Given the description of an element on the screen output the (x, y) to click on. 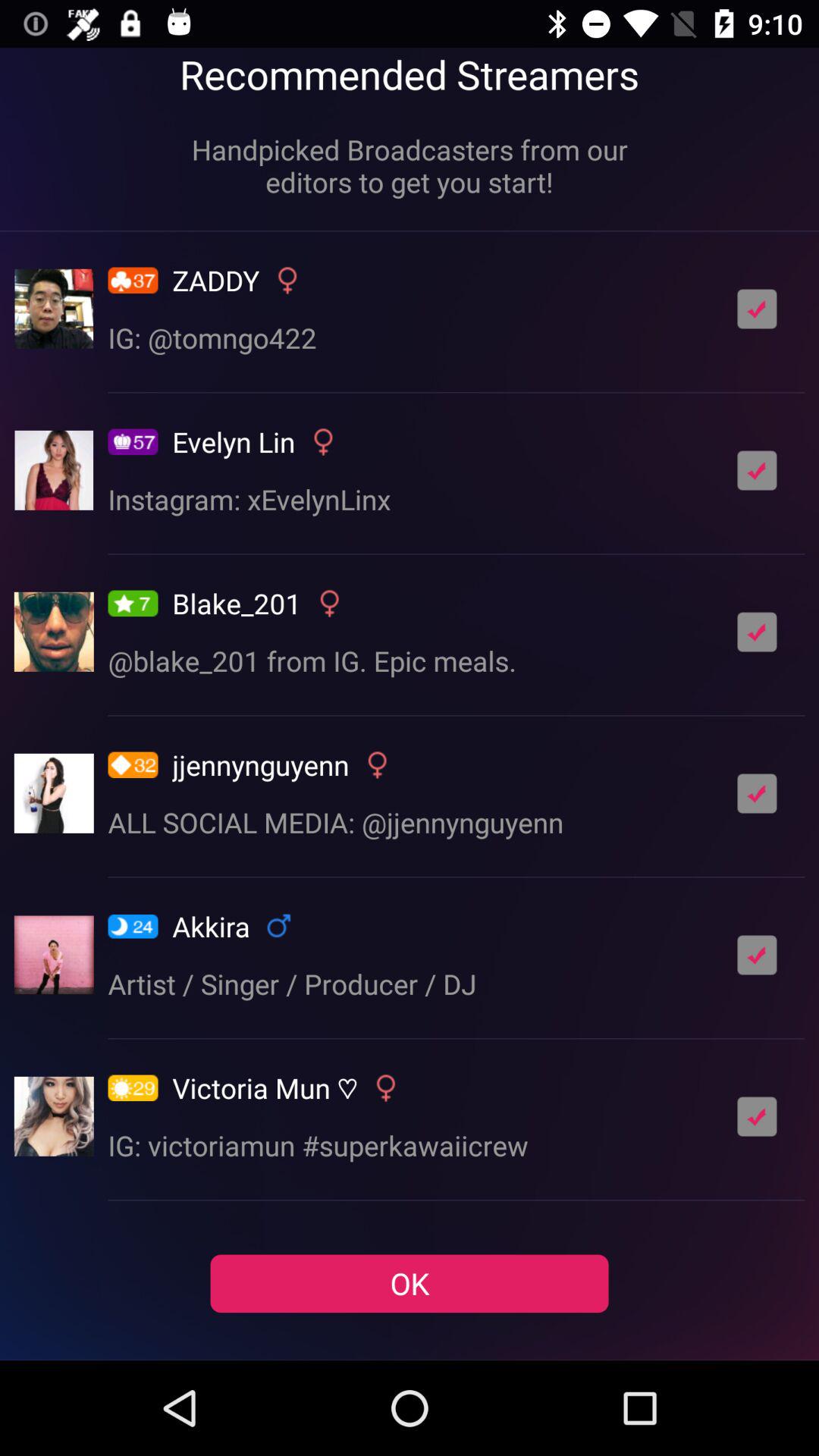
select recommended broadcaster (756, 631)
